Given the description of an element on the screen output the (x, y) to click on. 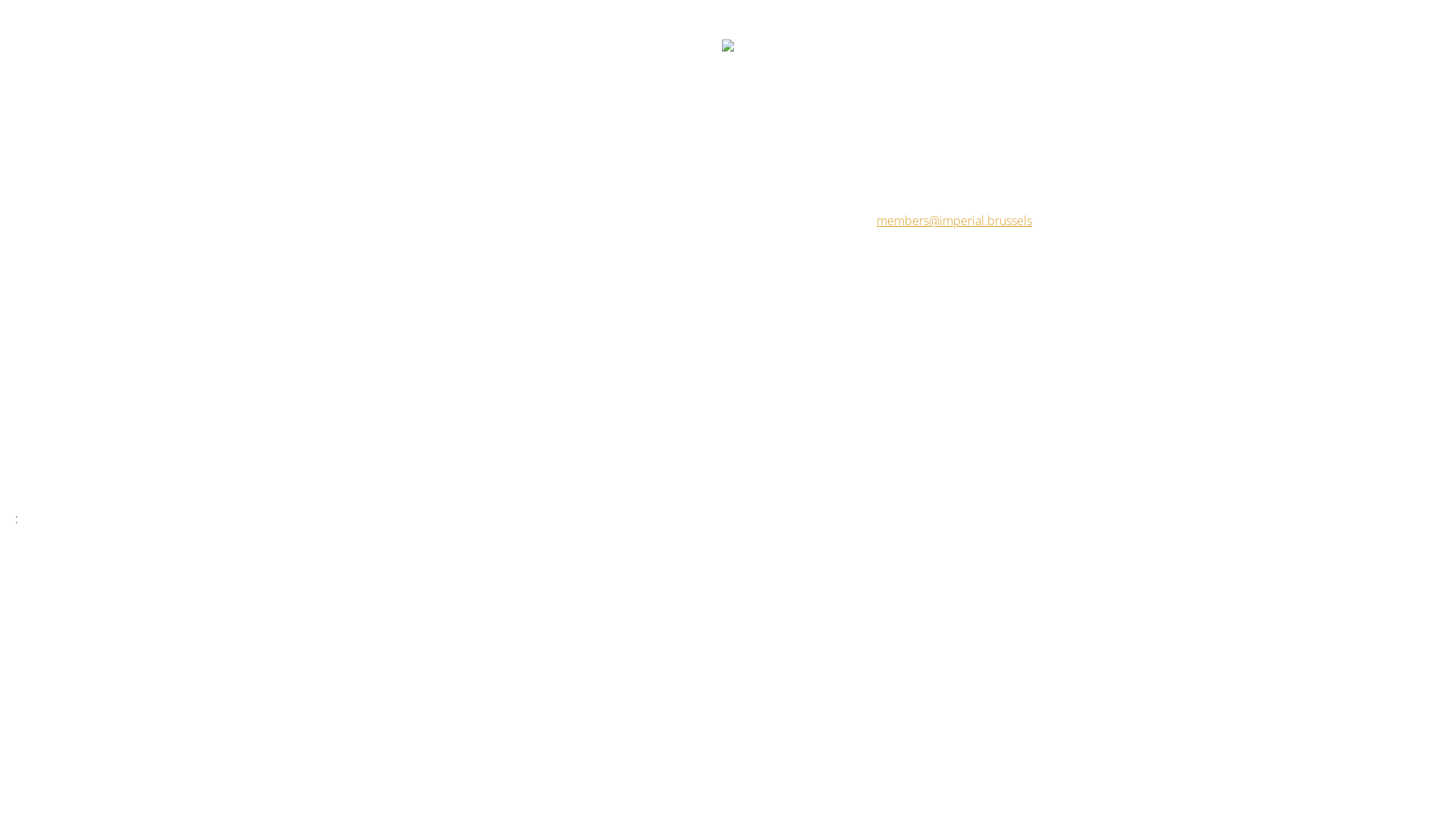
Terms of use & Privacy policy Element type: text (717, 493)
members@imperial.brussels Element type: text (954, 220)
Gibbon Element type: text (896, 493)
